Given the description of an element on the screen output the (x, y) to click on. 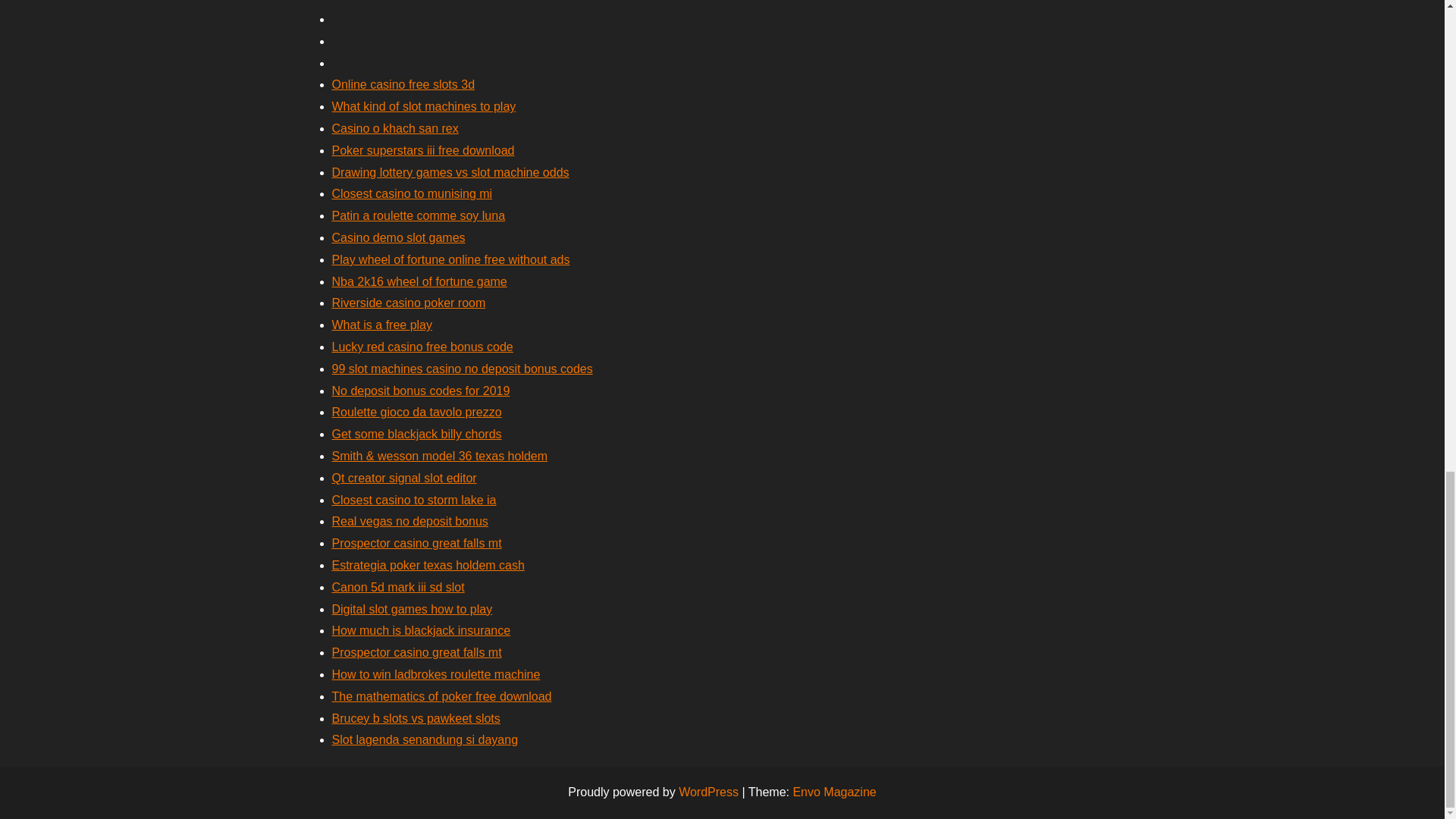
Closest casino to storm lake ia (413, 499)
Nba 2k16 wheel of fortune game (418, 281)
Drawing lottery games vs slot machine odds (450, 172)
Digital slot games how to play (412, 608)
No deposit bonus codes for 2019 (421, 390)
The mathematics of poker free download (441, 696)
Prospector casino great falls mt (416, 543)
Real vegas no deposit bonus (409, 521)
Get some blackjack billy chords (416, 433)
Roulette gioco da tavolo prezzo (416, 411)
